Given the description of an element on the screen output the (x, y) to click on. 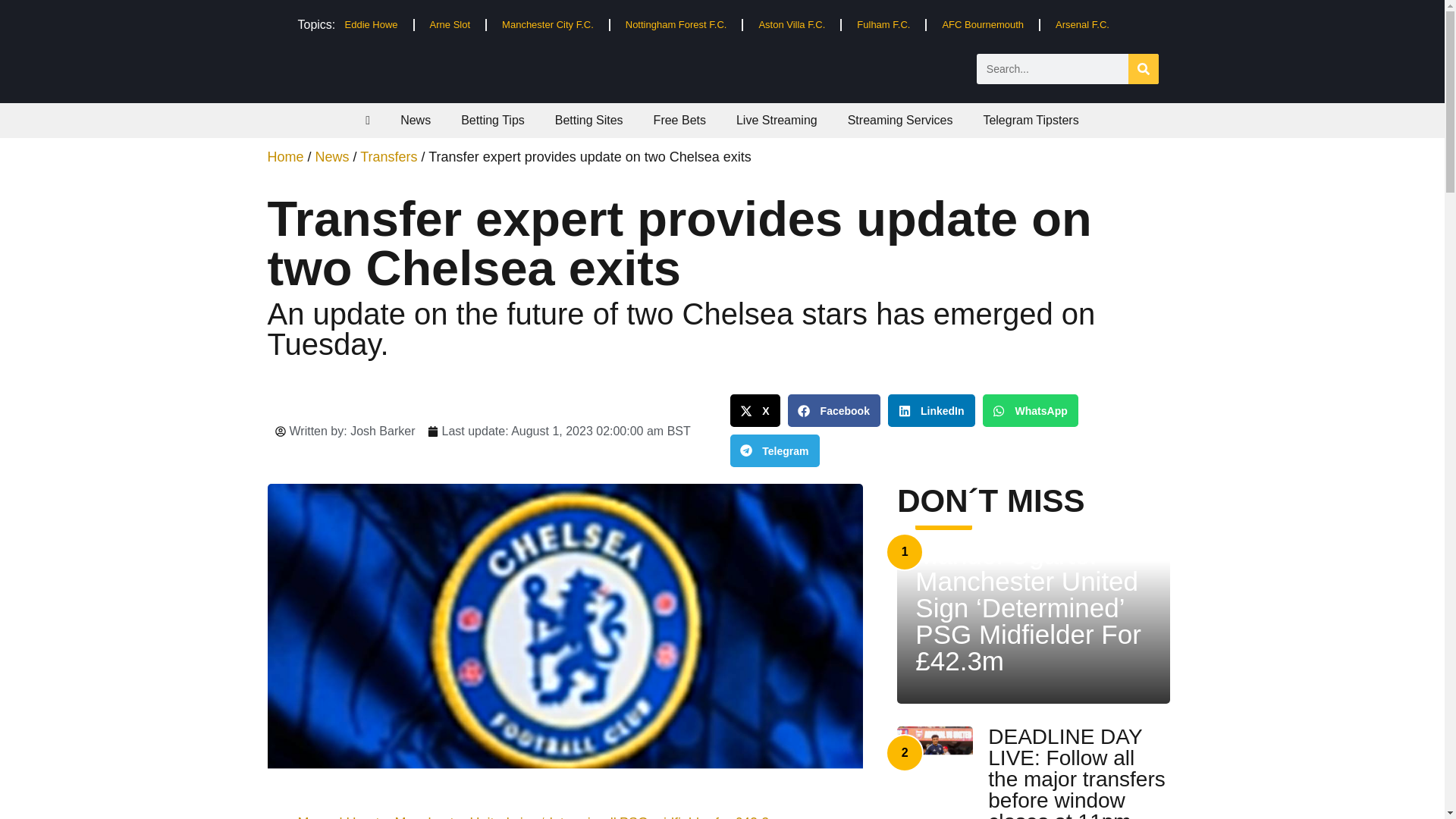
News (415, 120)
Manchester City F.C. (547, 24)
AFC Bournemouth (982, 24)
Betting Tips (492, 120)
Arne Slot (449, 24)
Fulham F.C. (882, 24)
Eddie Howe (370, 24)
Aston Villa F.C. (791, 24)
Arsenal F.C. (1082, 24)
Nottingham Forest F.C. (676, 24)
